Given the description of an element on the screen output the (x, y) to click on. 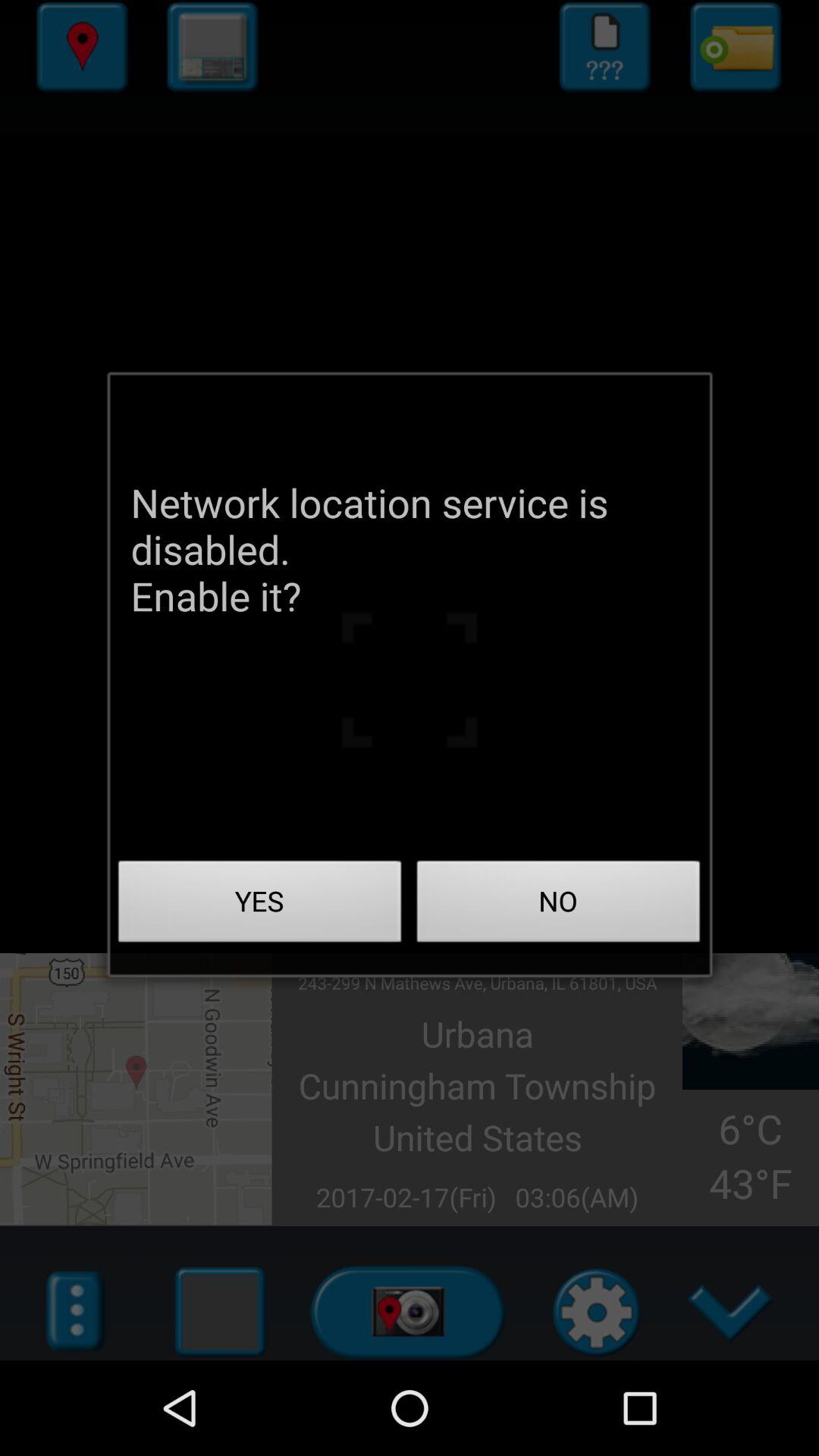
select app below network location service item (259, 905)
